Given the description of an element on the screen output the (x, y) to click on. 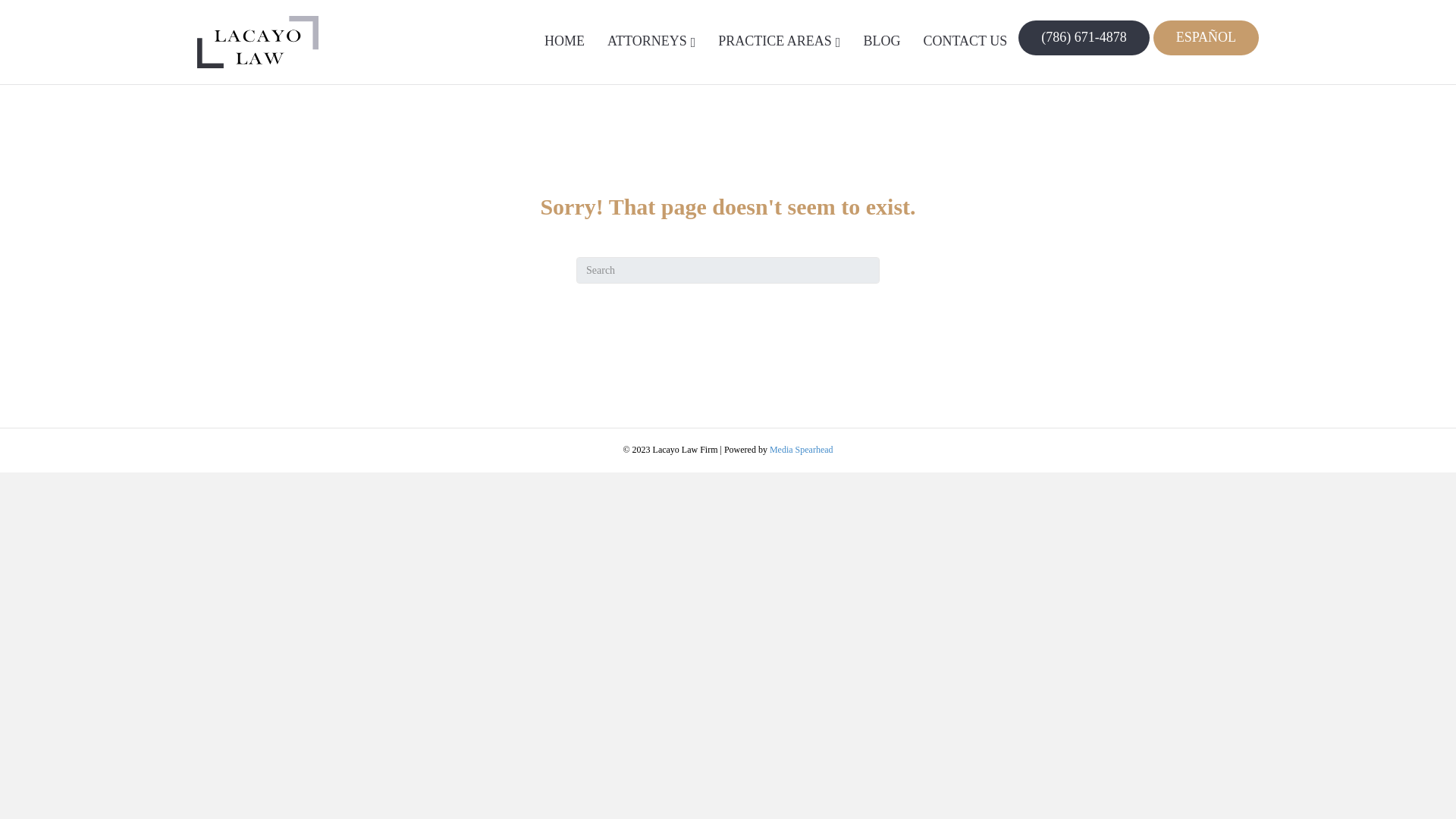
CONTACT US (964, 41)
Media Spearhead (801, 449)
Type and press Enter to search. (727, 270)
ATTORNEYS (650, 41)
PRACTICE AREAS (778, 41)
HOME (563, 41)
BLOG (881, 41)
